Given the description of an element on the screen output the (x, y) to click on. 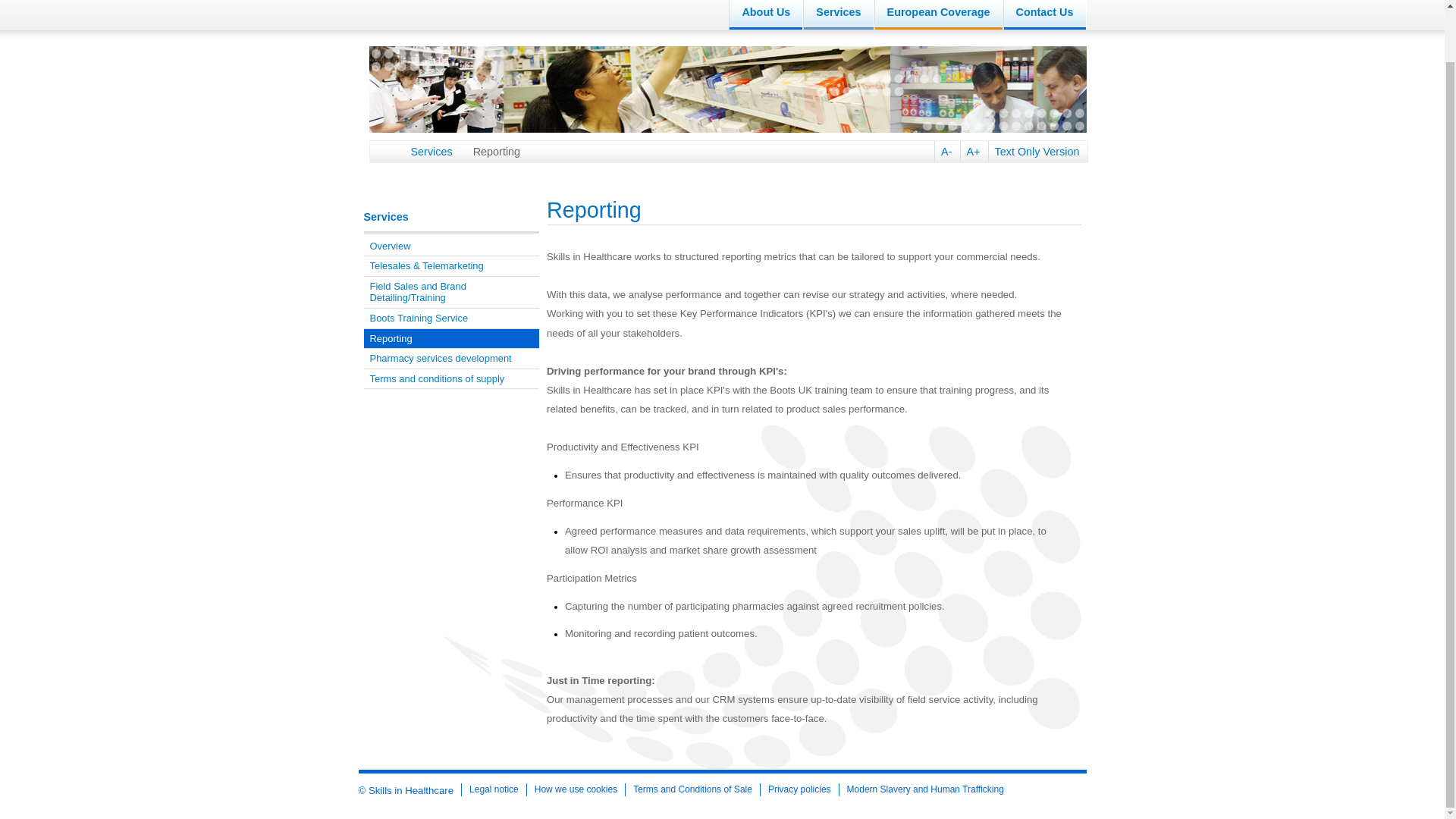
Reporting (489, 151)
Boots Training Service (452, 318)
Overview (452, 246)
Enlarge text size (969, 151)
Reporting (452, 339)
Services (386, 216)
Services (425, 151)
Pharmacy services development (452, 358)
Services (837, 14)
